Given the description of an element on the screen output the (x, y) to click on. 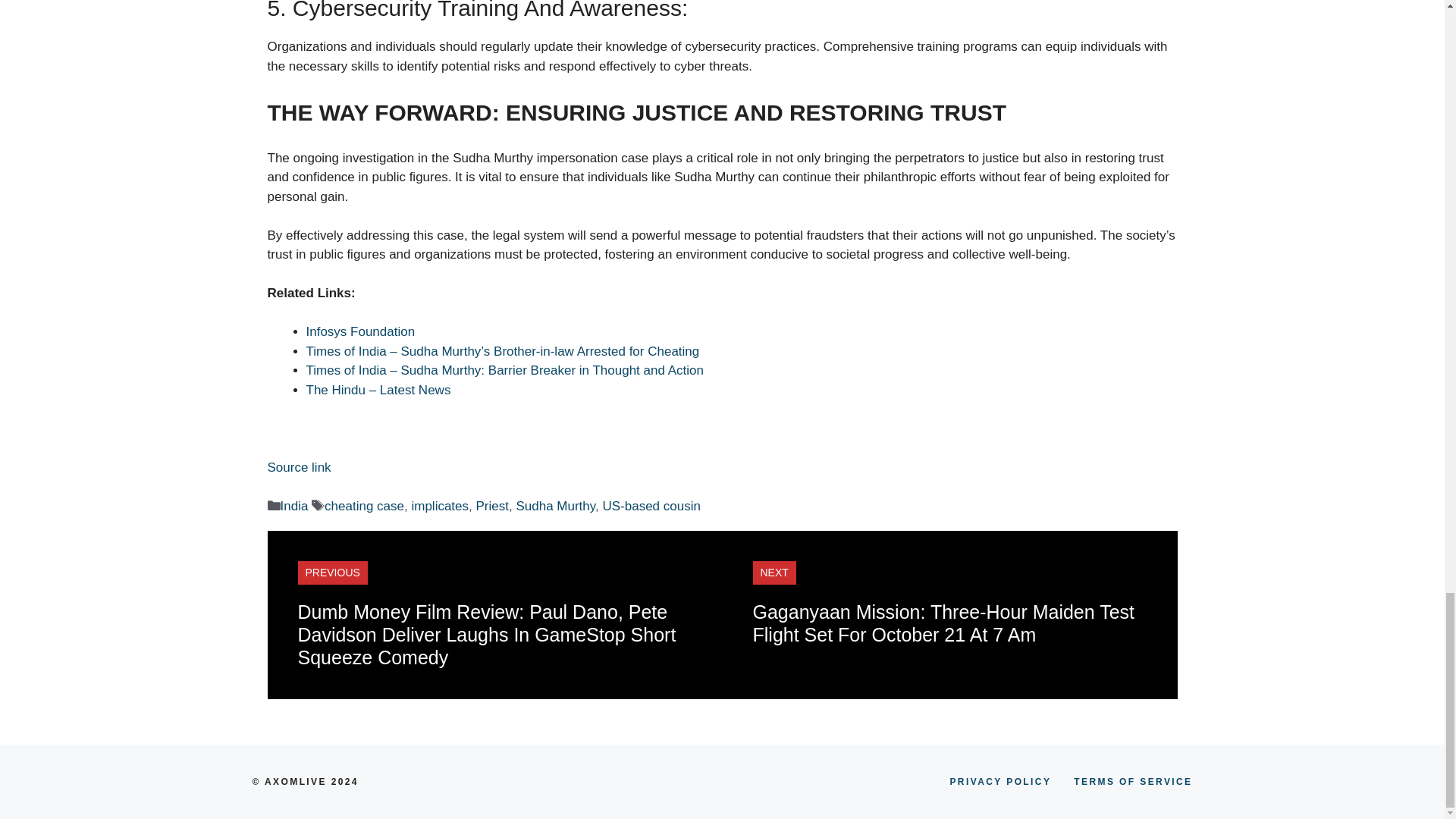
Infosys Foundation (359, 331)
